Given the description of an element on the screen output the (x, y) to click on. 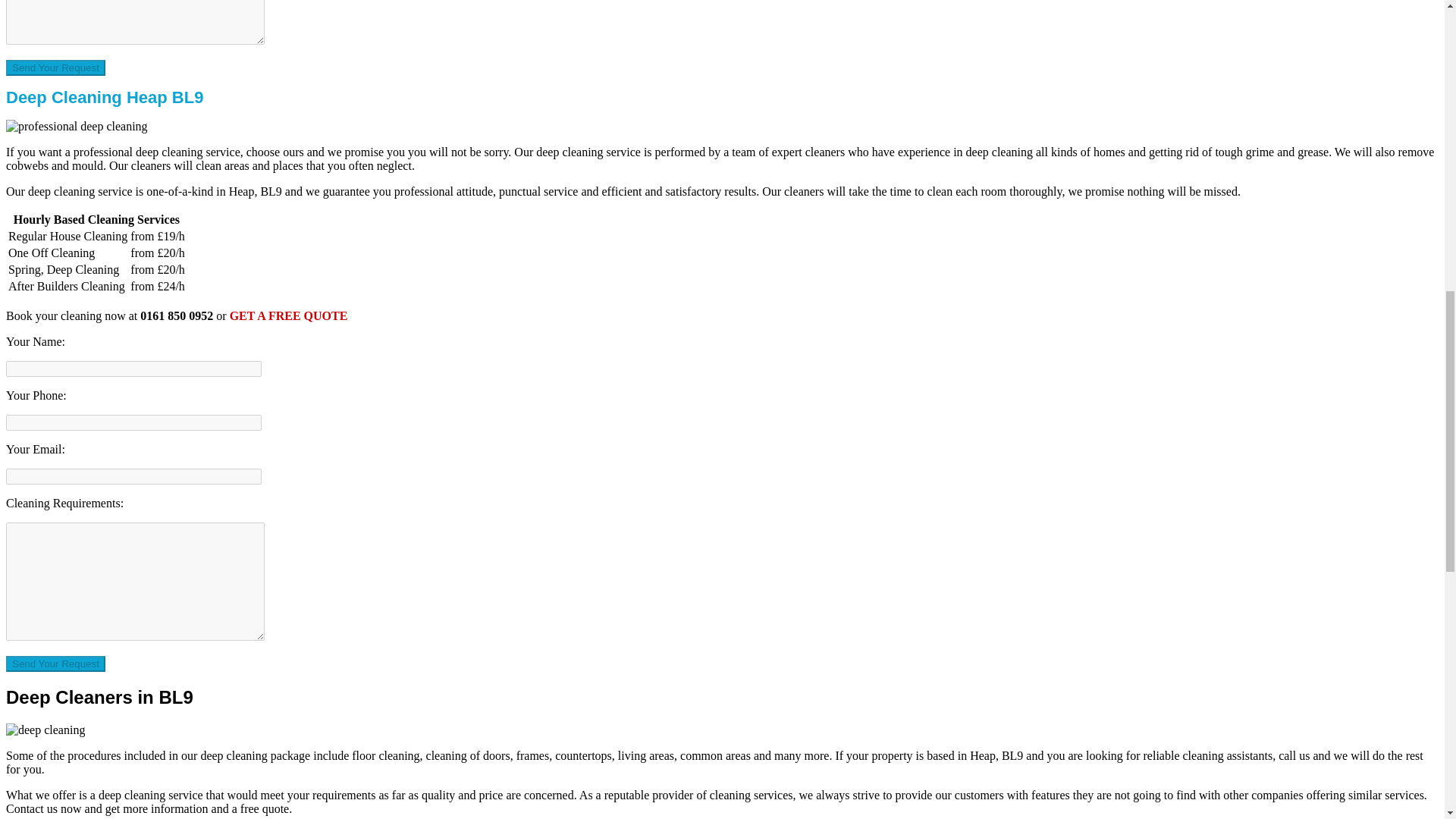
Send Your Request (54, 67)
Send Your Request (54, 663)
Send Your Request (54, 67)
Send Your Request (54, 663)
